Given the description of an element on the screen output the (x, y) to click on. 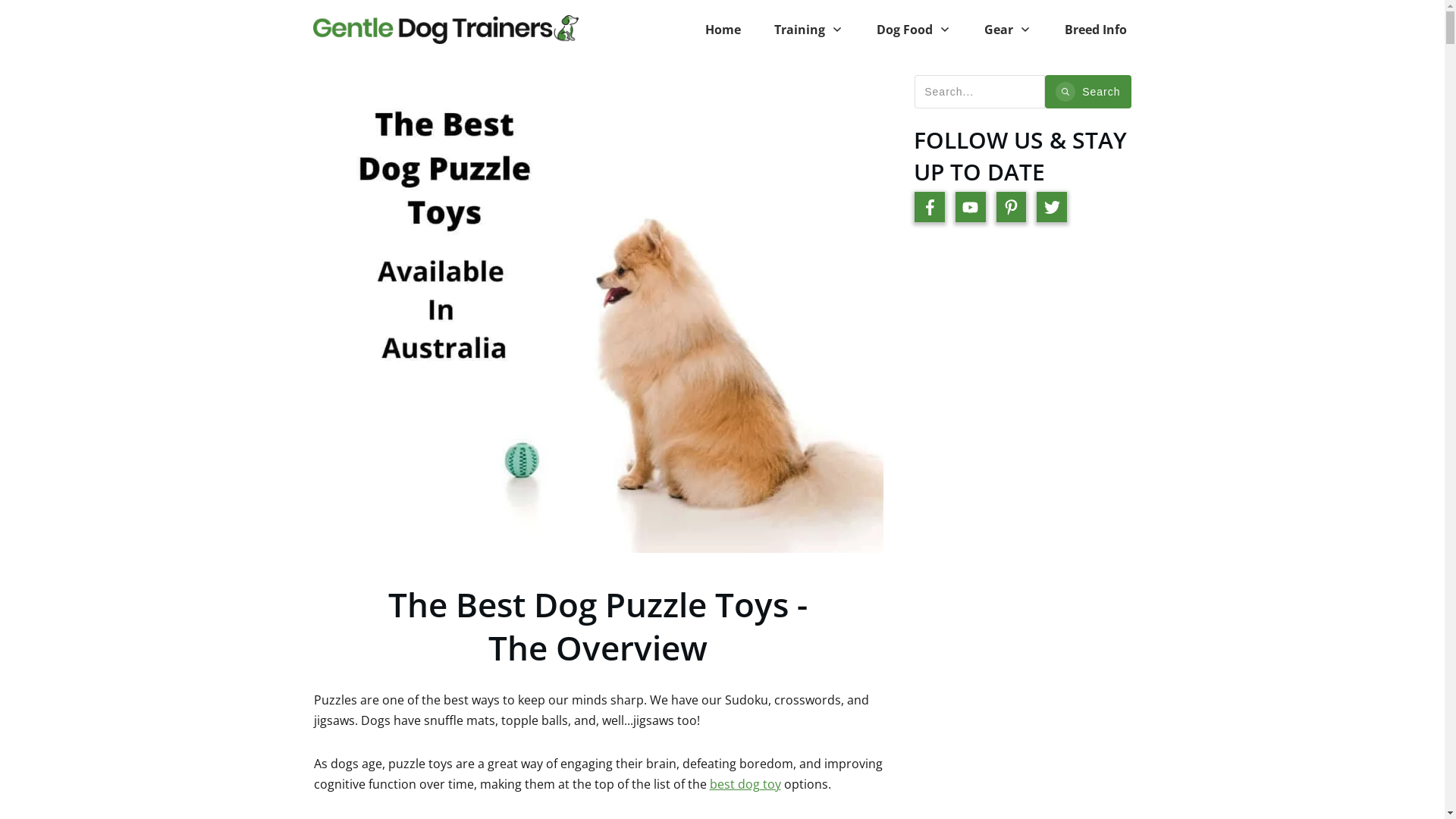
Breed Info Element type: text (1095, 29)
Home Element type: text (722, 29)
Training Element type: text (807, 29)
Dog Food Element type: text (913, 29)
Search Element type: text (1087, 91)
best dog toy Element type: text (745, 783)
Gear Element type: text (1007, 29)
6 Best Dog Puzzle Toys Australia (2023 Buyers Guide) Element type: hover (597, 313)
